Given the description of an element on the screen output the (x, y) to click on. 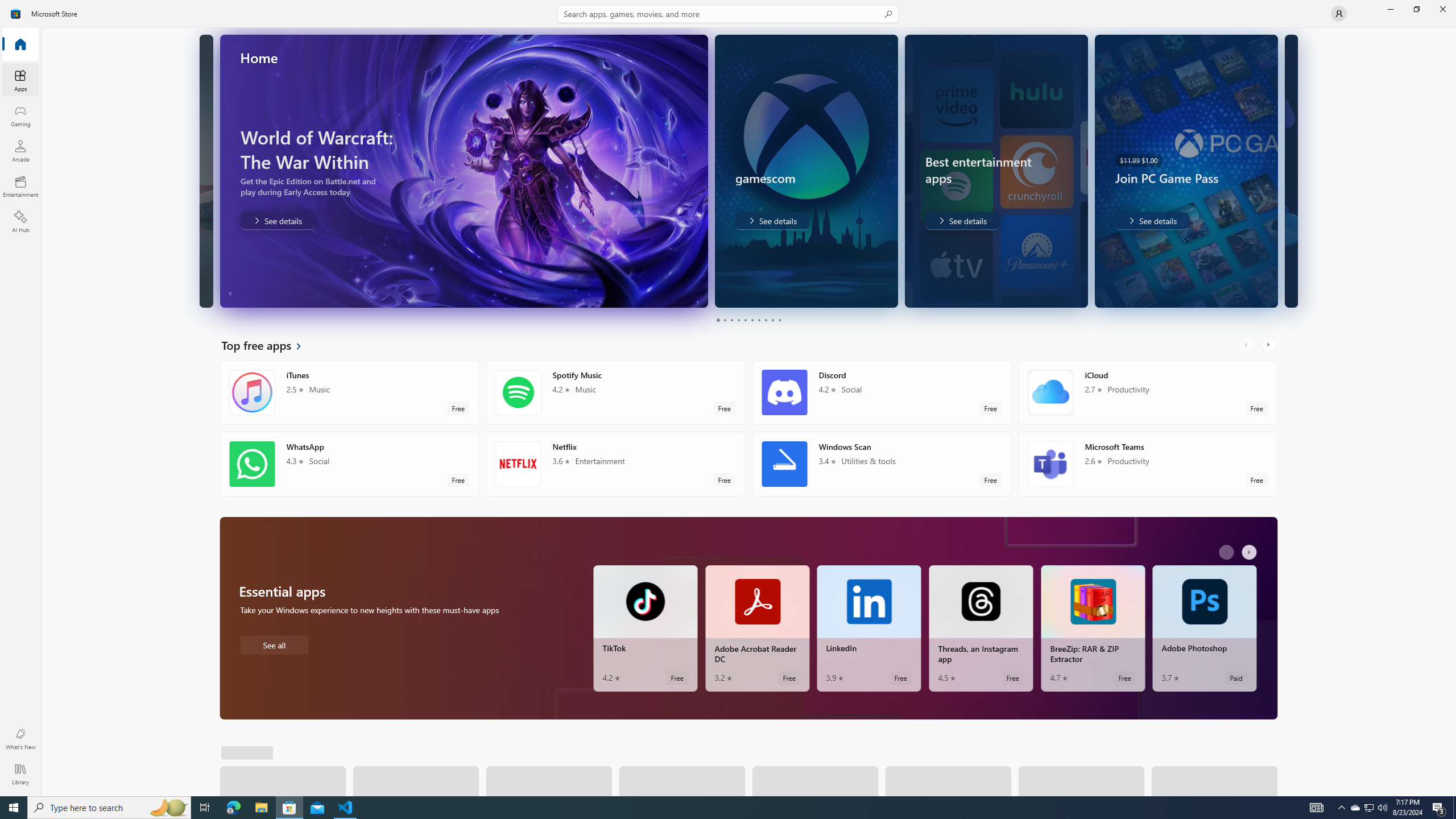
User profile (1338, 13)
Close Microsoft Store (1442, 9)
iCloud. Average rating of 2.7 out of five stars. Free   (1146, 392)
WhatsApp. Average rating of 4.3 out of five stars. Free   (349, 463)
Minimize Microsoft Store (1390, 9)
What's New (20, 738)
